Given the description of an element on the screen output the (x, y) to click on. 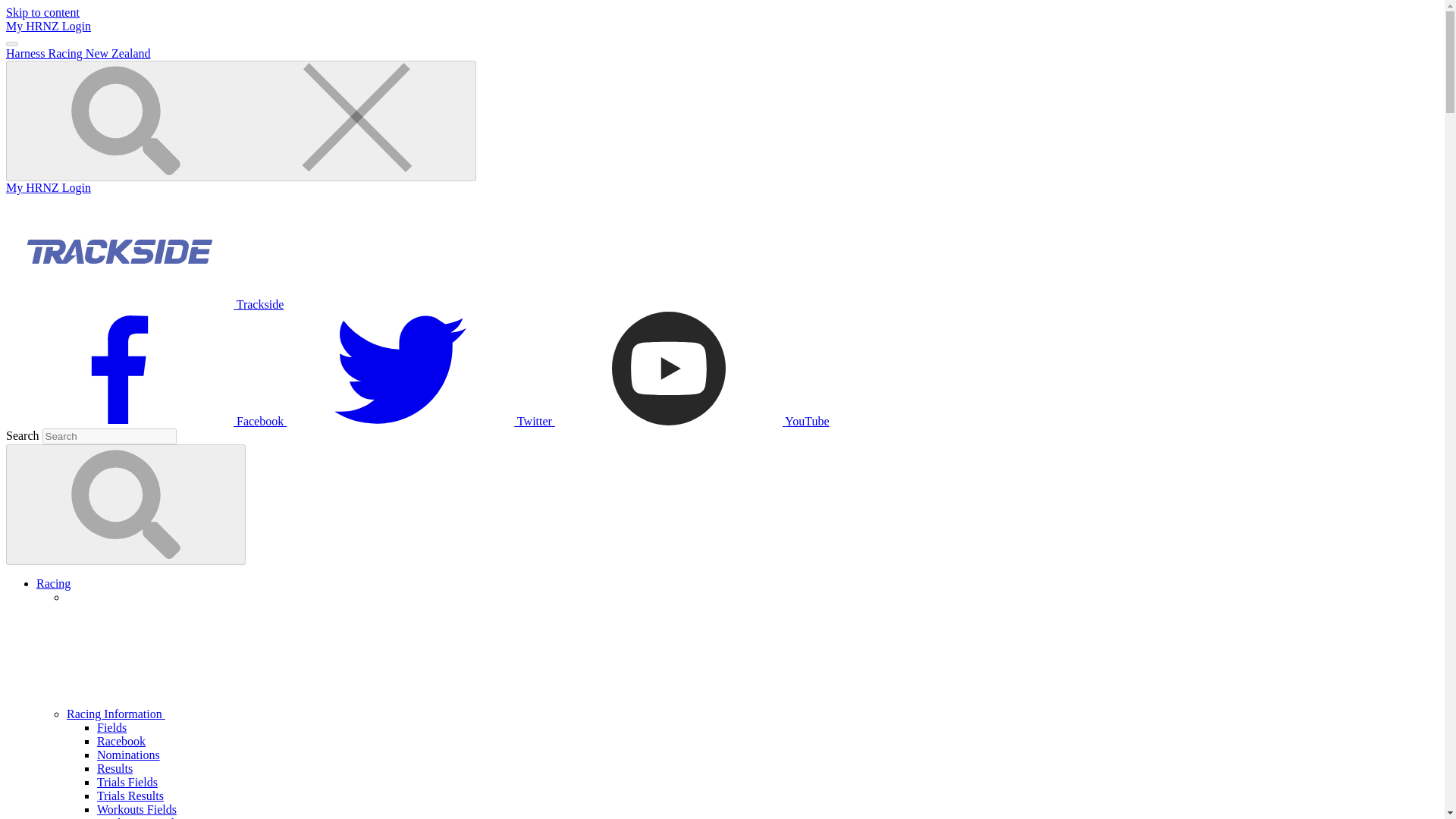
Twitter (420, 420)
My HRNZ Login (47, 187)
Workouts Results (140, 817)
Workouts Fields (136, 809)
Fields (111, 727)
Racing (52, 583)
Skip to content (42, 11)
Facebook (145, 420)
Search (125, 504)
Harness Racing New Zealand (78, 52)
Results (114, 768)
Racebook (121, 740)
Trackside (144, 304)
Nominations (128, 754)
Trials Fields (127, 781)
